Given the description of an element on the screen output the (x, y) to click on. 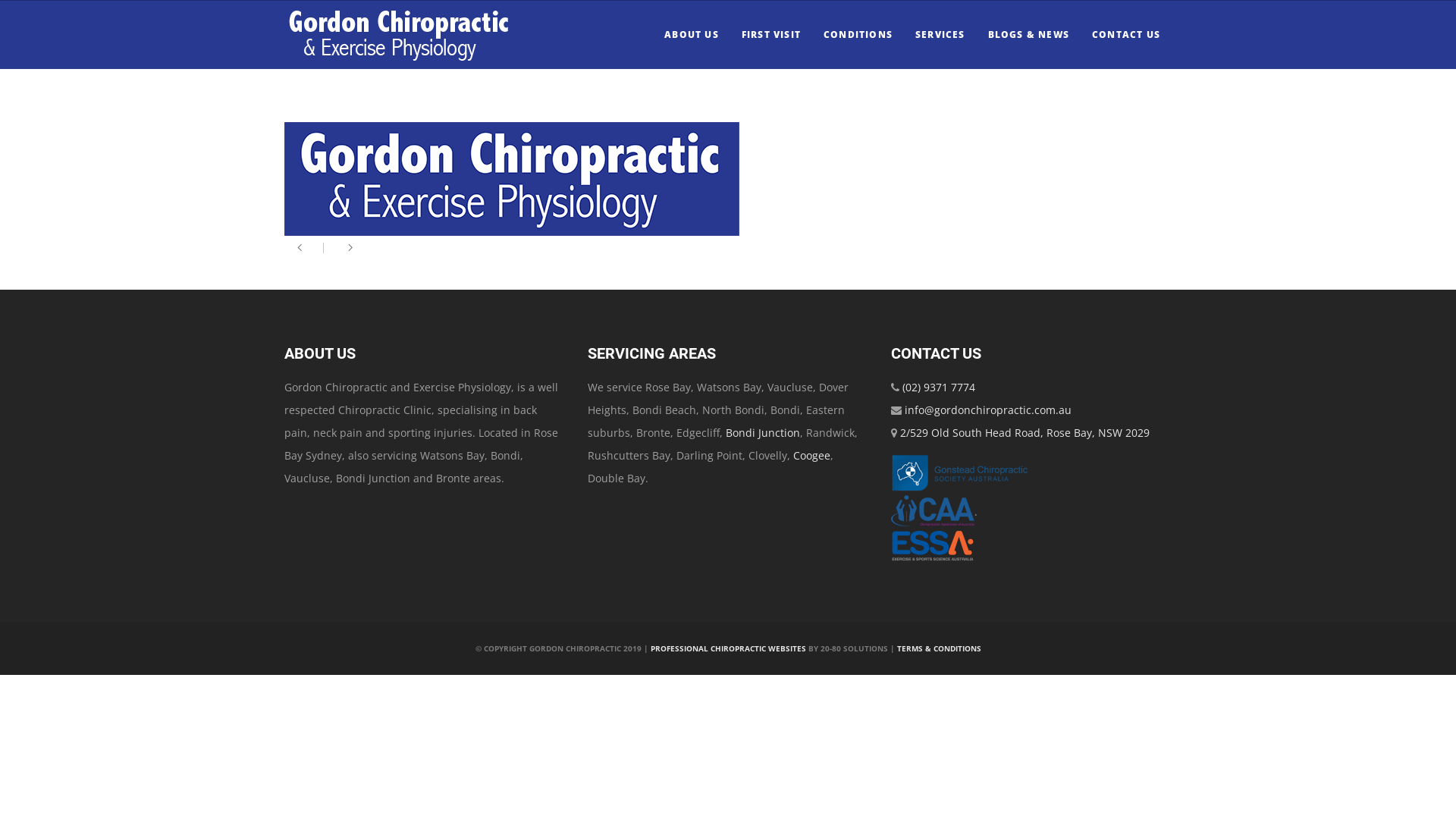
CONTACT US Element type: text (1126, 34)
TERMS & CONDITIONS Element type: text (938, 648)
SERVICES Element type: text (940, 34)
Bondi Junction Element type: text (762, 432)
2/529 Old South Head Road, Rose Bay, NSW 2029 Element type: text (1024, 432)
Gordon Chiropractic Element type: hover (397, 35)
CONDITIONS Element type: text (857, 34)
Coogee Element type: text (811, 455)
info@gordonchiropractic.com.au Element type: text (987, 409)
PROFESSIONAL CHIROPRACTIC WEBSITES Element type: text (728, 648)
ABOUT US Element type: text (691, 34)
(02) 9371 7774 Element type: text (938, 386)
BLOGS & NEWS Element type: text (1028, 34)
FIRST VISIT Element type: text (770, 34)
